Given the description of an element on the screen output the (x, y) to click on. 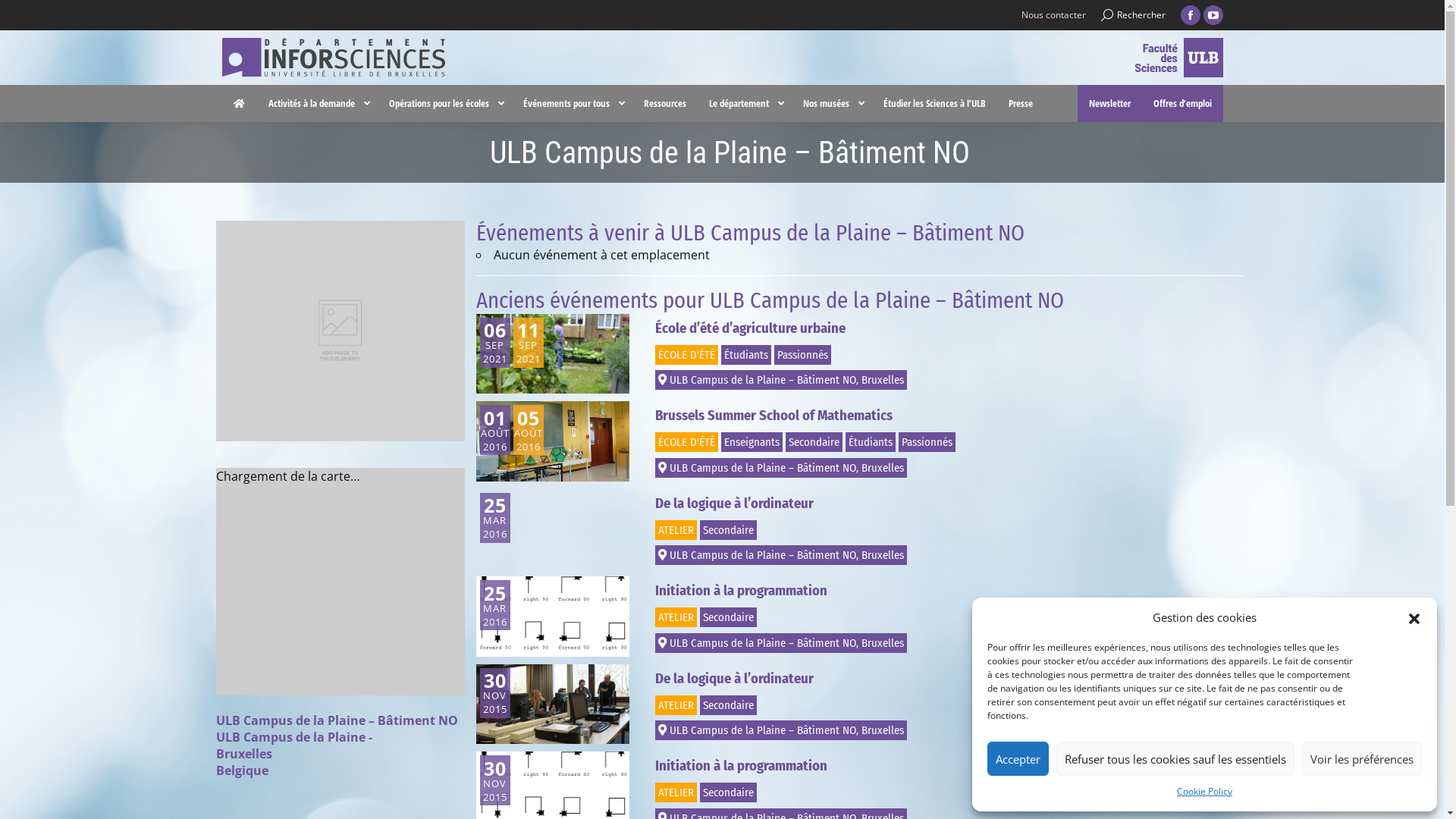
musees Element type: hover (801, 661)
Nous contacter Element type: text (1052, 14)
Nos partenaires Element type: text (932, 523)
sciencesBE Element type: hover (974, 661)
Nos missions Element type: text (926, 479)
Facebook page opens in new window Element type: text (1189, 15)
wallonie Element type: hover (458, 661)
Pour la presse Element type: text (1100, 523)
Notre newsletter Element type: text (1106, 479)
Nos offres d'emploi Element type: text (1111, 501)
Par public Element type: text (575, 501)
Par lieu Element type: text (570, 545)
Go! Element type: text (24, 17)
brussels Element type: hover (286, 661)
Jardin botanique Jean Massart Element type: text (789, 523)
Ressources Element type: text (664, 103)
Cookie Policy Element type: text (1204, 791)
Refuser tous les cookies sauf les essentiels Element type: text (1175, 758)
Sciences nomades Element type: text (249, 501)
Newsletter Element type: text (1108, 103)
fwb Element type: hover (630, 661)
Presse Element type: text (1020, 103)
Sciences au CCS Element type: text (245, 523)
Rechercher Element type: text (1133, 14)
Accepter Element type: text (1017, 758)
Mission DD Element type: text (406, 479)
Par discipline Element type: text (583, 523)
Printemps des Sciences Element type: text (432, 501)
ecsite Element type: hover (1146, 661)
YouTube page opens in new window Element type: text (1212, 15)
